Given the description of an element on the screen output the (x, y) to click on. 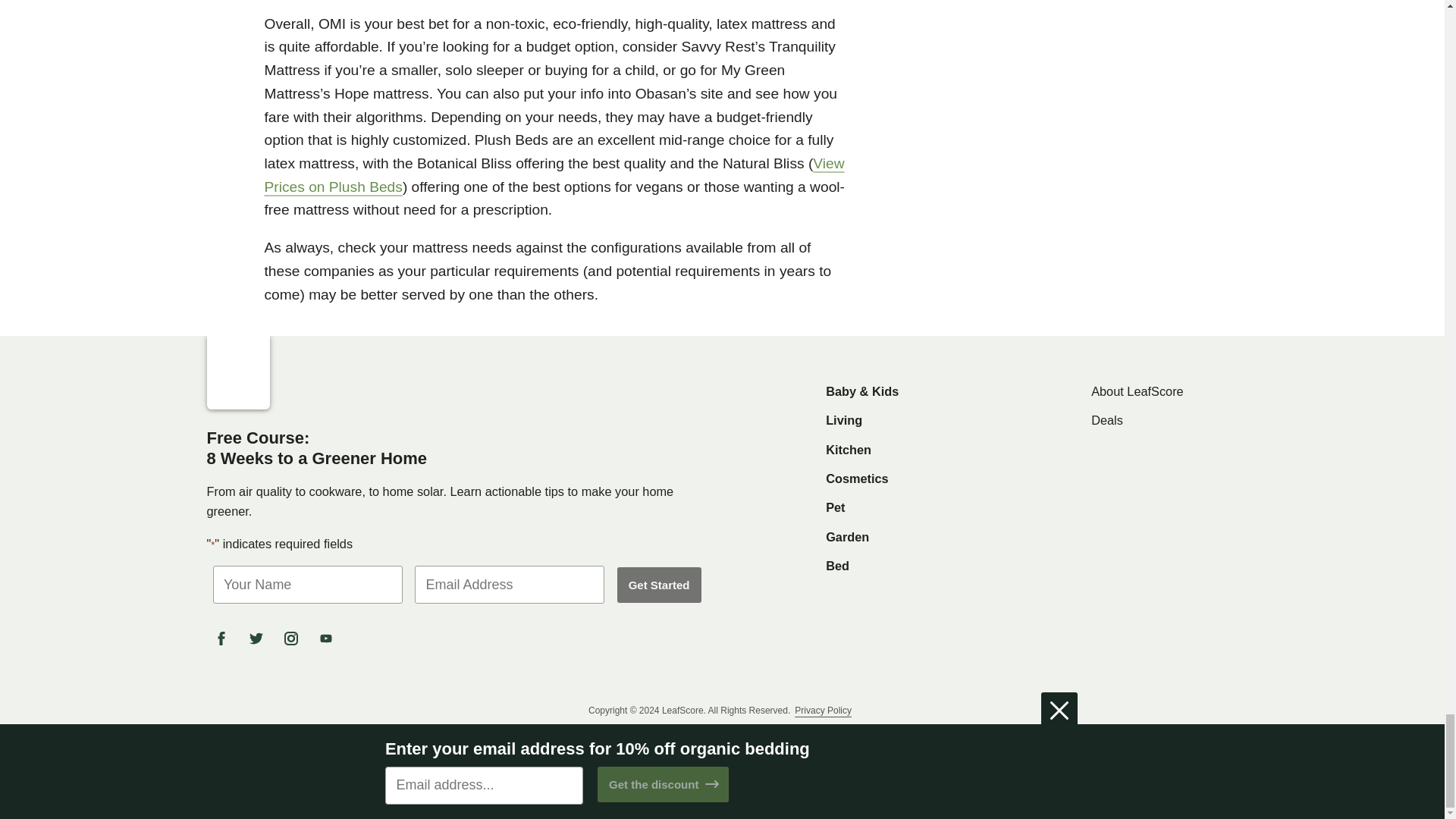
Get Started (659, 584)
Facebook (223, 638)
Instagram (293, 638)
YouTube (328, 638)
Twitter (258, 638)
